Given the description of an element on the screen output the (x, y) to click on. 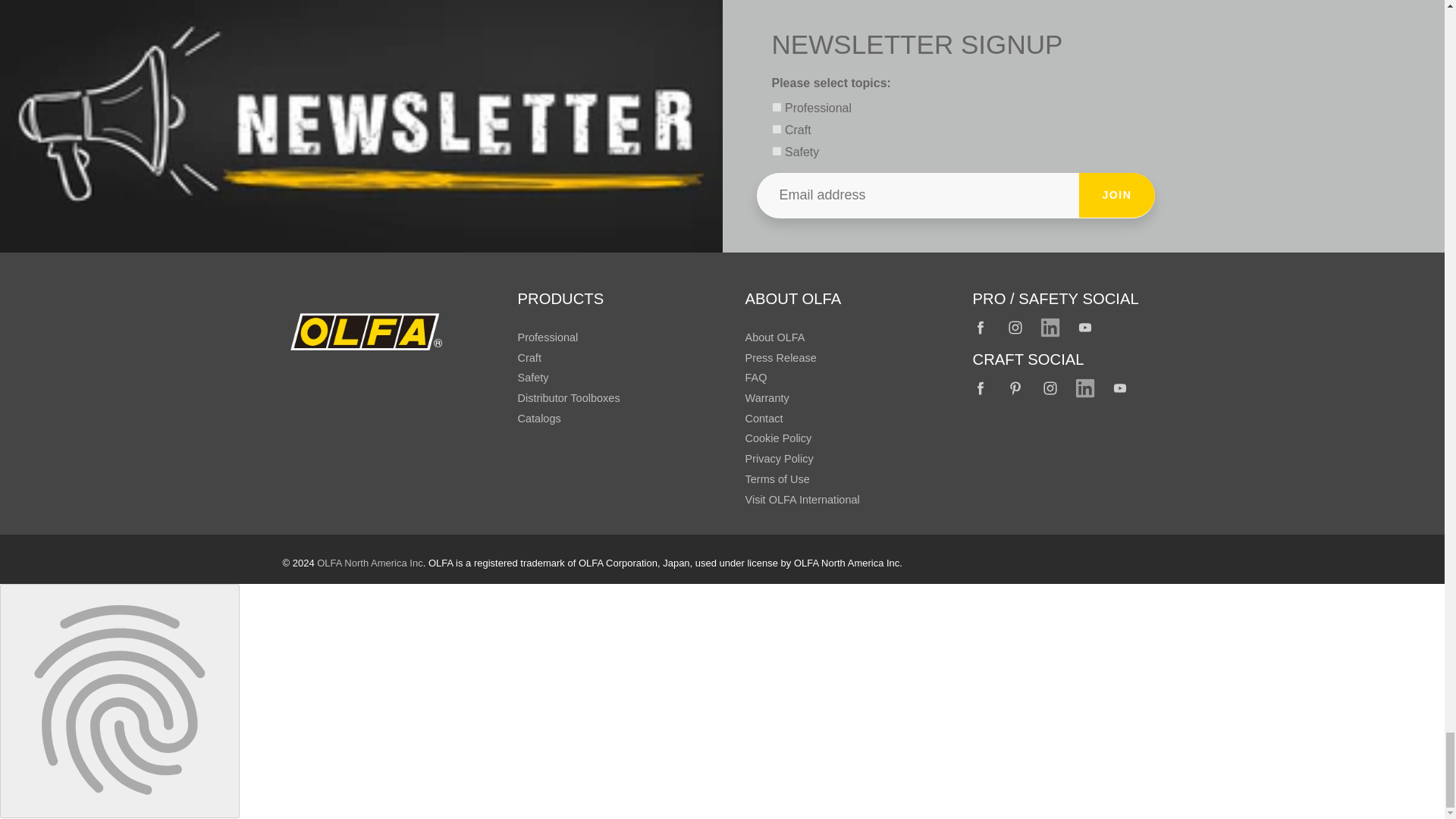
YouTube (1120, 388)
Instagram (1016, 327)
Instagram (1050, 388)
news-pro (776, 107)
Linked In (1085, 388)
YouTube (1085, 327)
Facebook (981, 327)
news-safety (776, 151)
Linked In (1050, 327)
Pinterest (1016, 388)
Facebook (981, 388)
news-craft (776, 129)
